Given the description of an element on the screen output the (x, y) to click on. 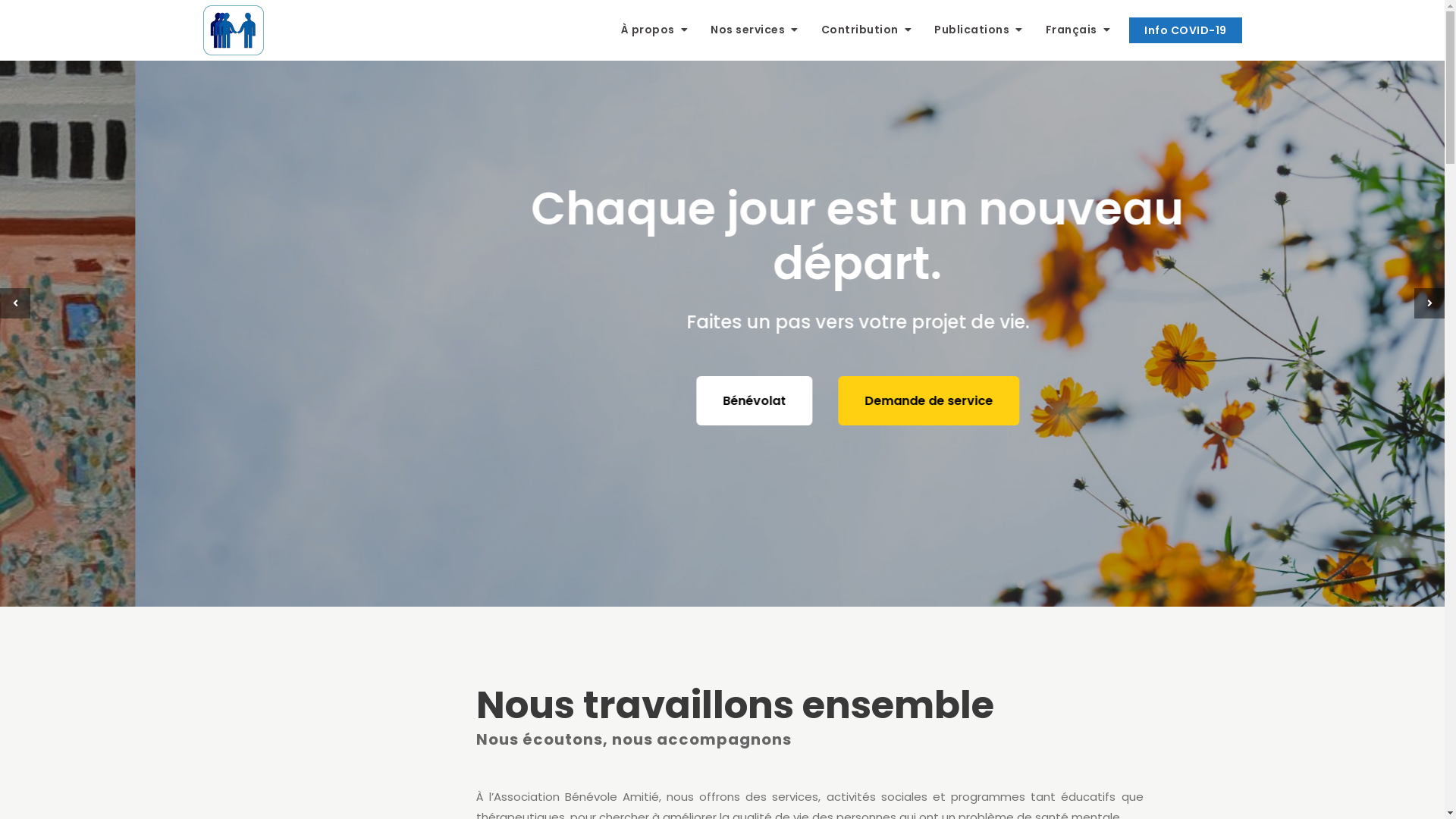
Voir nos services Element type: text (644, 373)
Rechercher Element type: text (113, 8)
Contribution Element type: text (866, 29)
Nos services Element type: text (754, 29)
Faire un don Element type: text (814, 373)
Publications Element type: text (978, 29)
Info COVID-19 Element type: text (1185, 30)
